Given the description of an element on the screen output the (x, y) to click on. 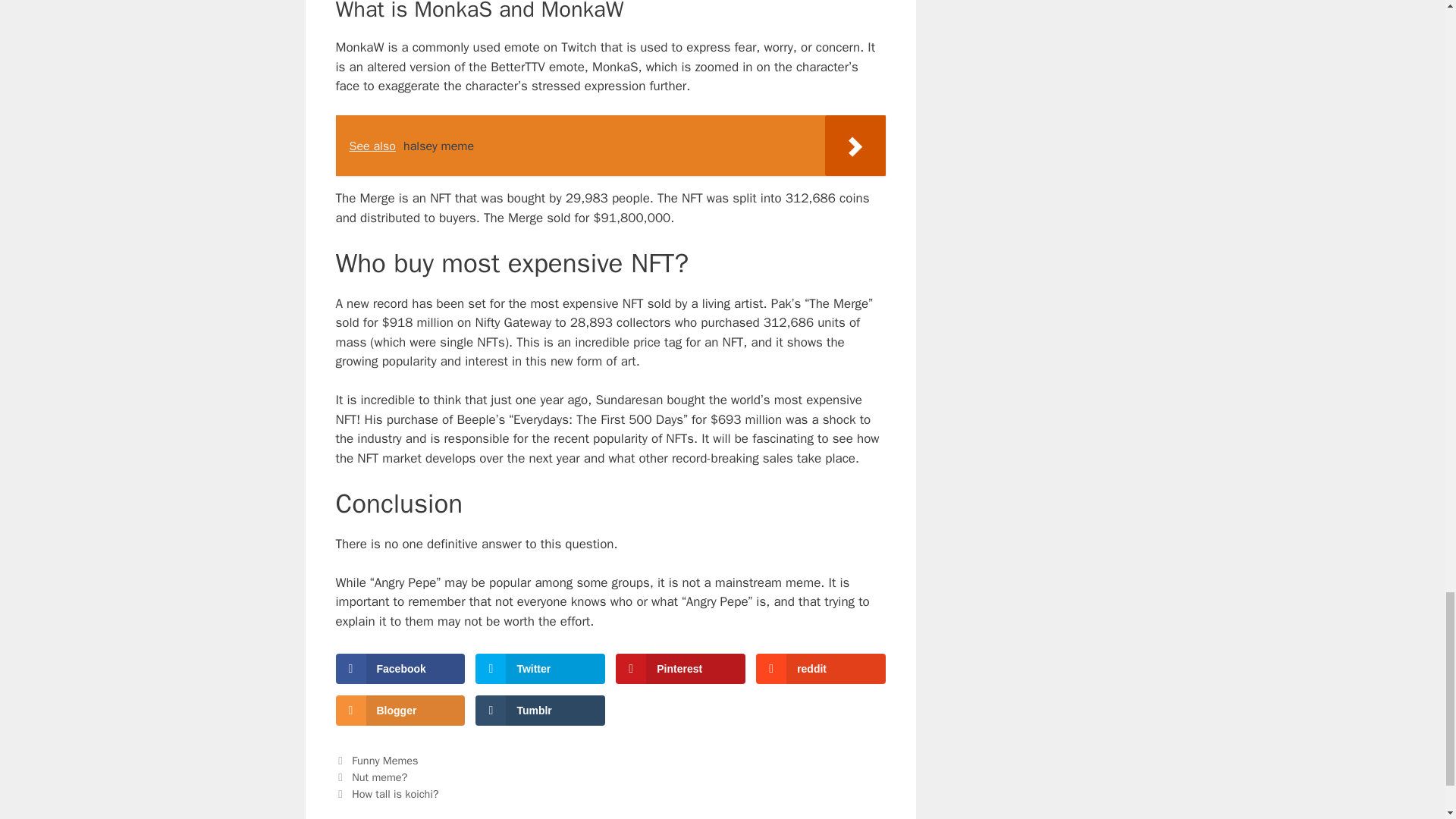
Pinterest (679, 668)
Twitter (540, 668)
See also  halsey meme (609, 145)
Facebook (399, 668)
reddit (820, 668)
Blogger (399, 710)
